Given the description of an element on the screen output the (x, y) to click on. 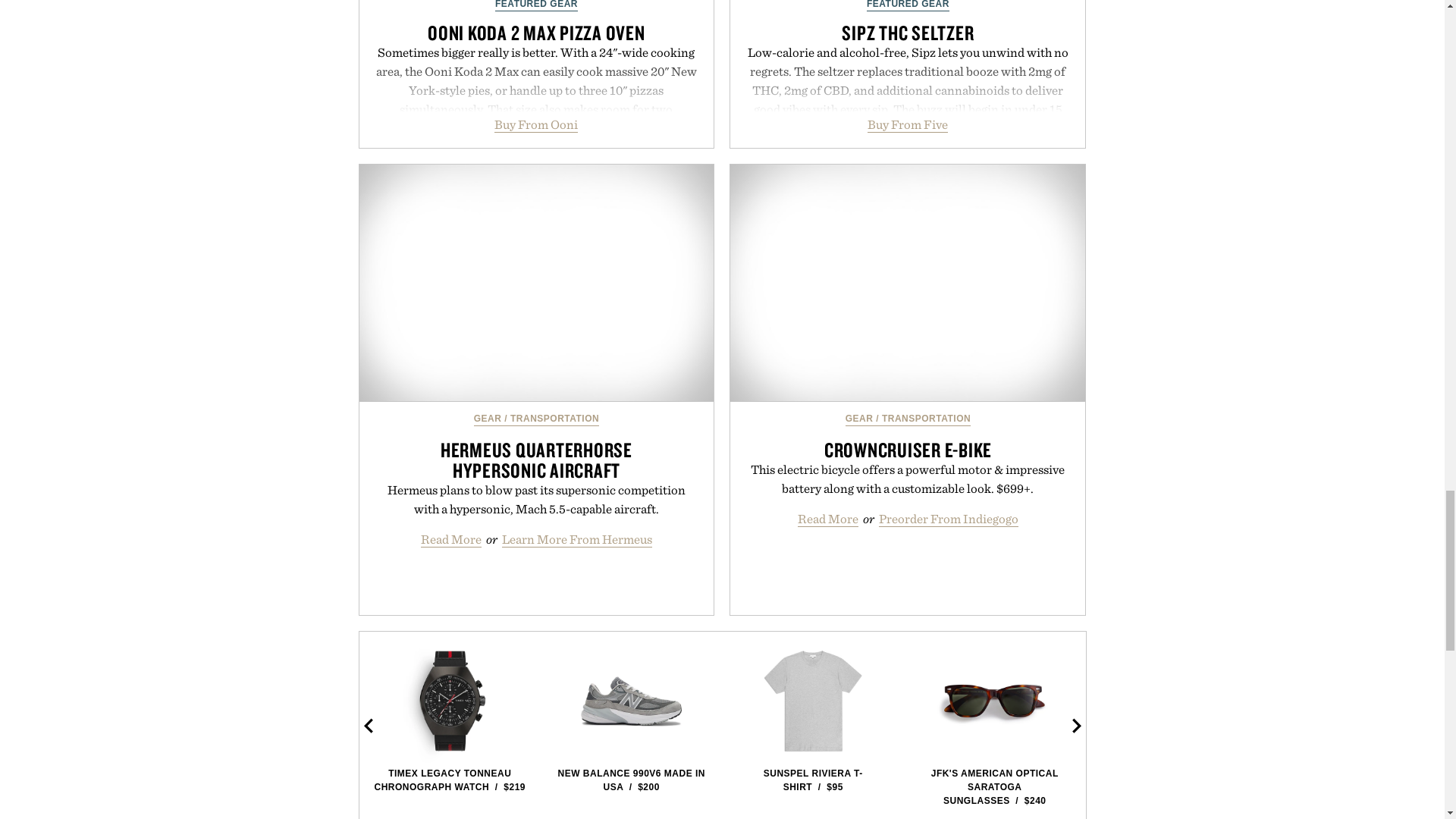
CrownCruiser E-Bike (907, 283)
Hermeus Quarterhorse Hypersonic Aircraft (536, 283)
